Given the description of an element on the screen output the (x, y) to click on. 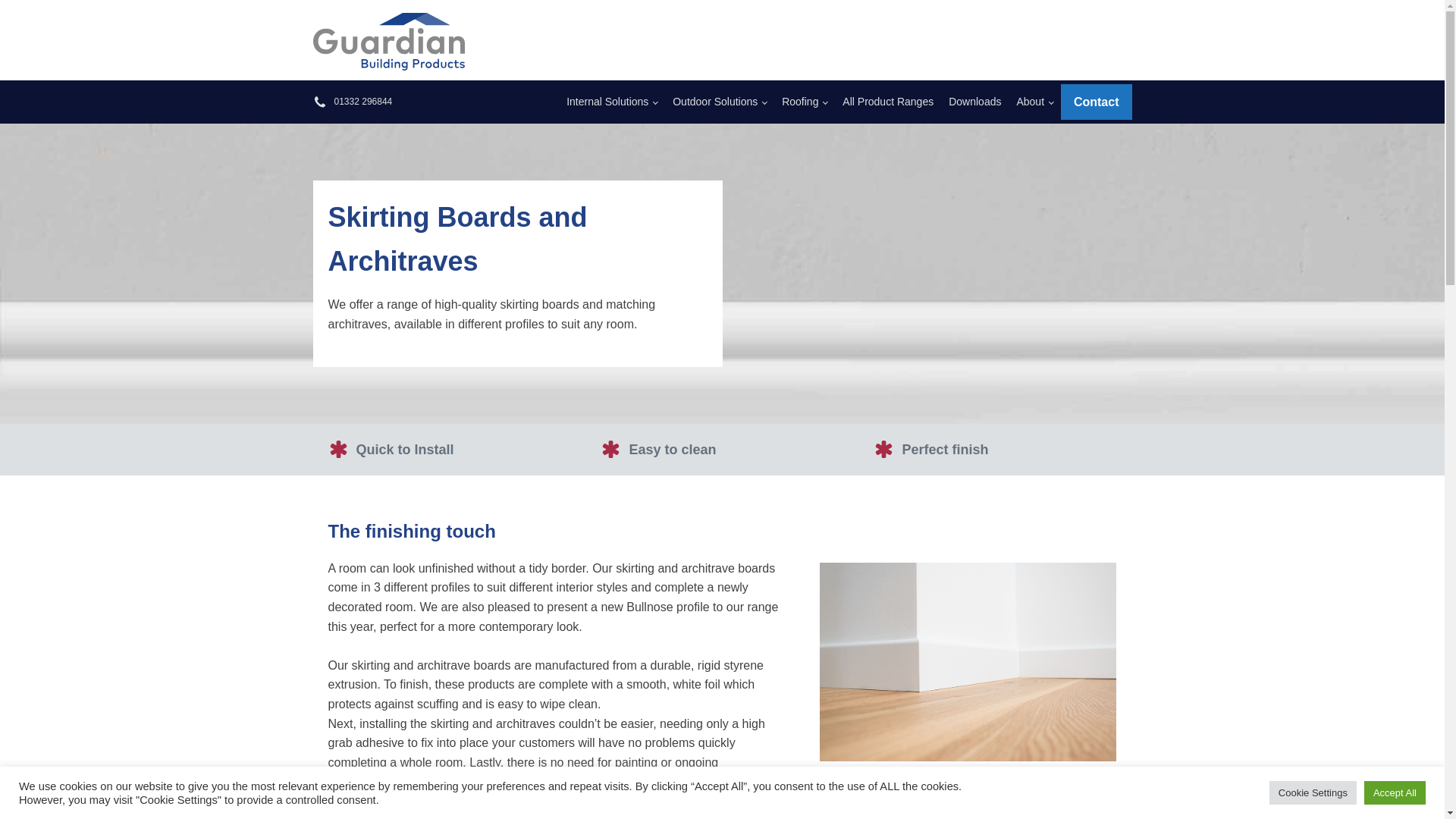
About (1026, 101)
01332 296844 (362, 101)
Outdoor Solutions (712, 101)
Internal Solutions (604, 101)
Roofing (797, 101)
Contact (1096, 102)
All Product Ranges (880, 101)
Downloads (967, 101)
